Given the description of an element on the screen output the (x, y) to click on. 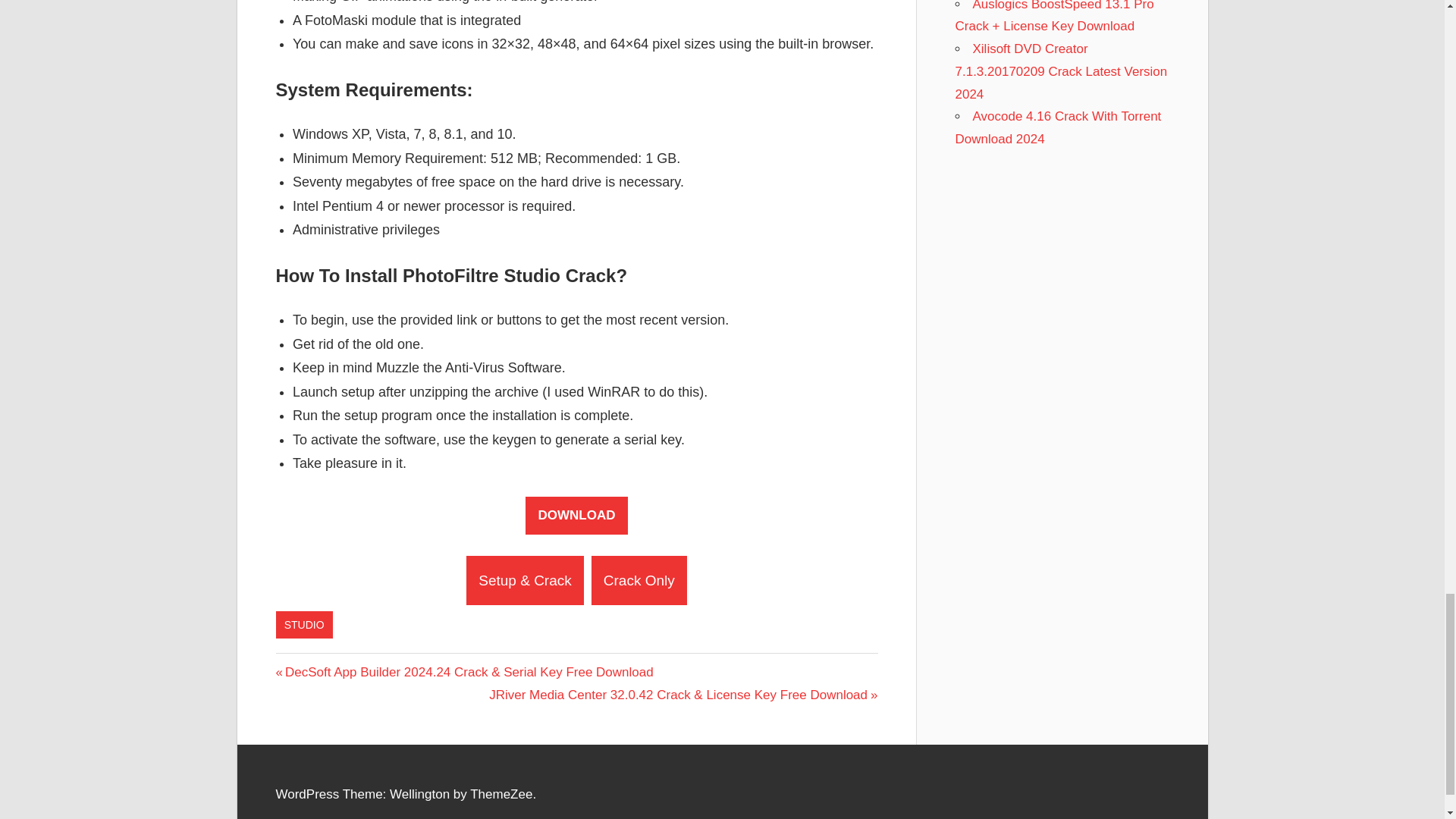
DOWNLOAD (575, 515)
STUDIO (304, 624)
Crack Only (639, 580)
